Given the description of an element on the screen output the (x, y) to click on. 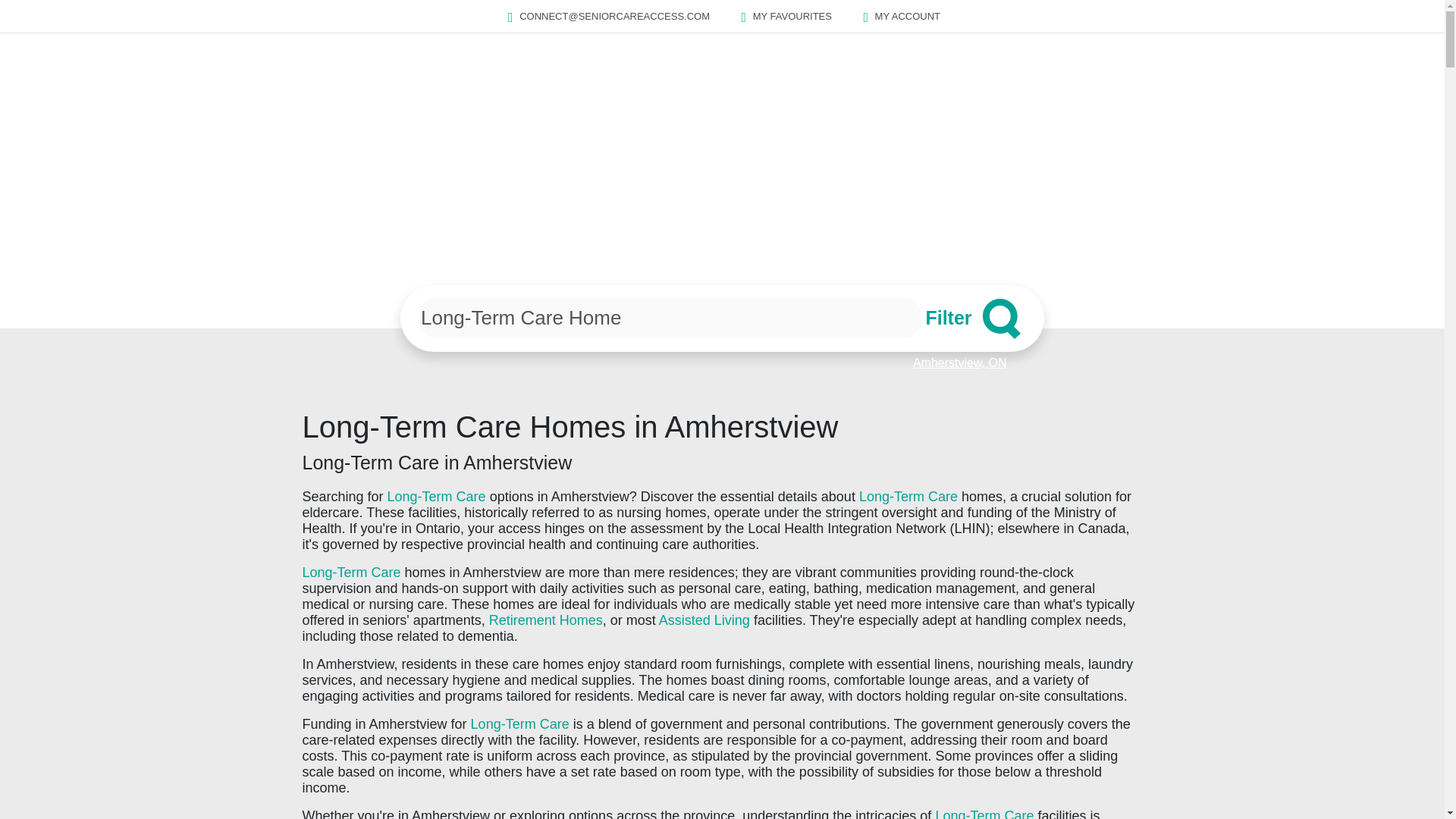
Filter (972, 318)
Long-Term Care (519, 724)
MY FAVOURITES (783, 16)
MY ACCOUNT (899, 16)
Long-Term Care Home (669, 317)
Amherstview, ON (959, 362)
Long-Term Care (983, 813)
Assisted Living (704, 620)
Long-Term Care (436, 496)
Retirement Homes (545, 620)
Long-Term Care (908, 496)
Long-Term Care (350, 572)
